Given the description of an element on the screen output the (x, y) to click on. 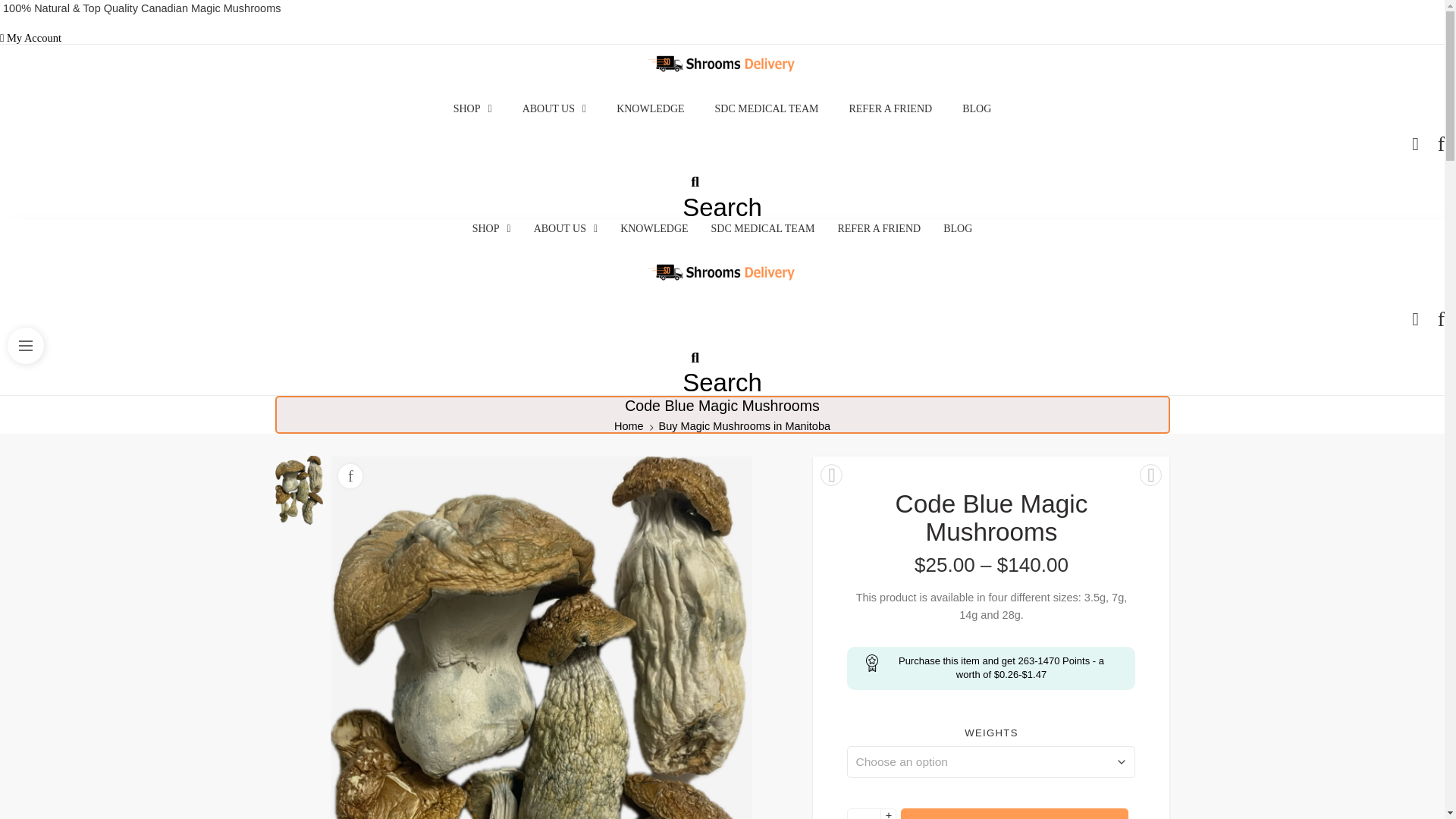
REFER A FRIEND (890, 108)
KNOWLEDGE (649, 108)
Buy Magic Mushrooms in Manitoba (744, 425)
Cart (1415, 143)
ABOUT US (554, 108)
BLOG (976, 108)
SHOP (472, 108)
My Account (30, 37)
Home (628, 425)
Cart (1415, 319)
SDC MEDICAL TEAM (766, 108)
1 (863, 813)
